Given the description of an element on the screen output the (x, y) to click on. 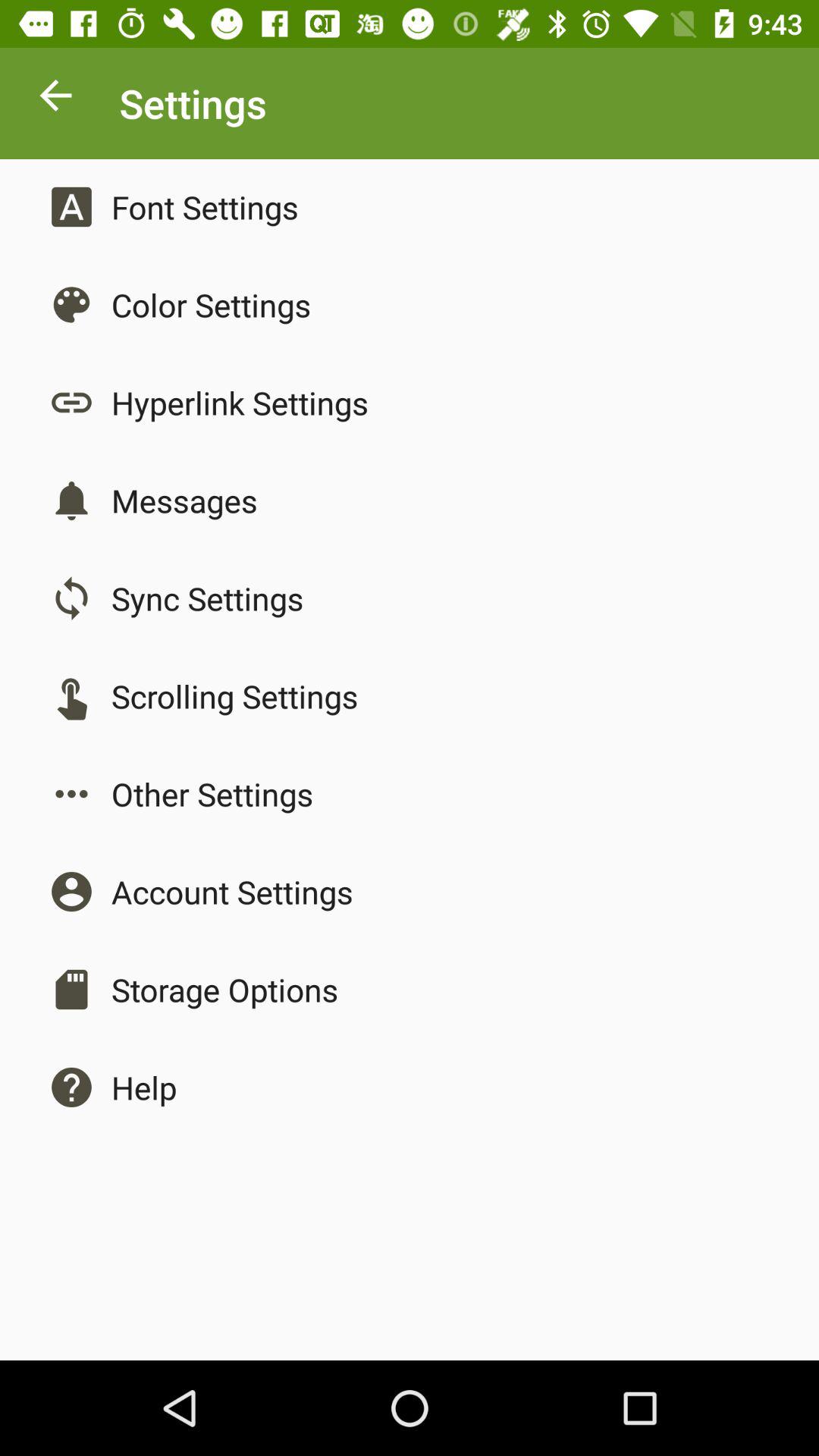
open the app above other settings icon (234, 695)
